Given the description of an element on the screen output the (x, y) to click on. 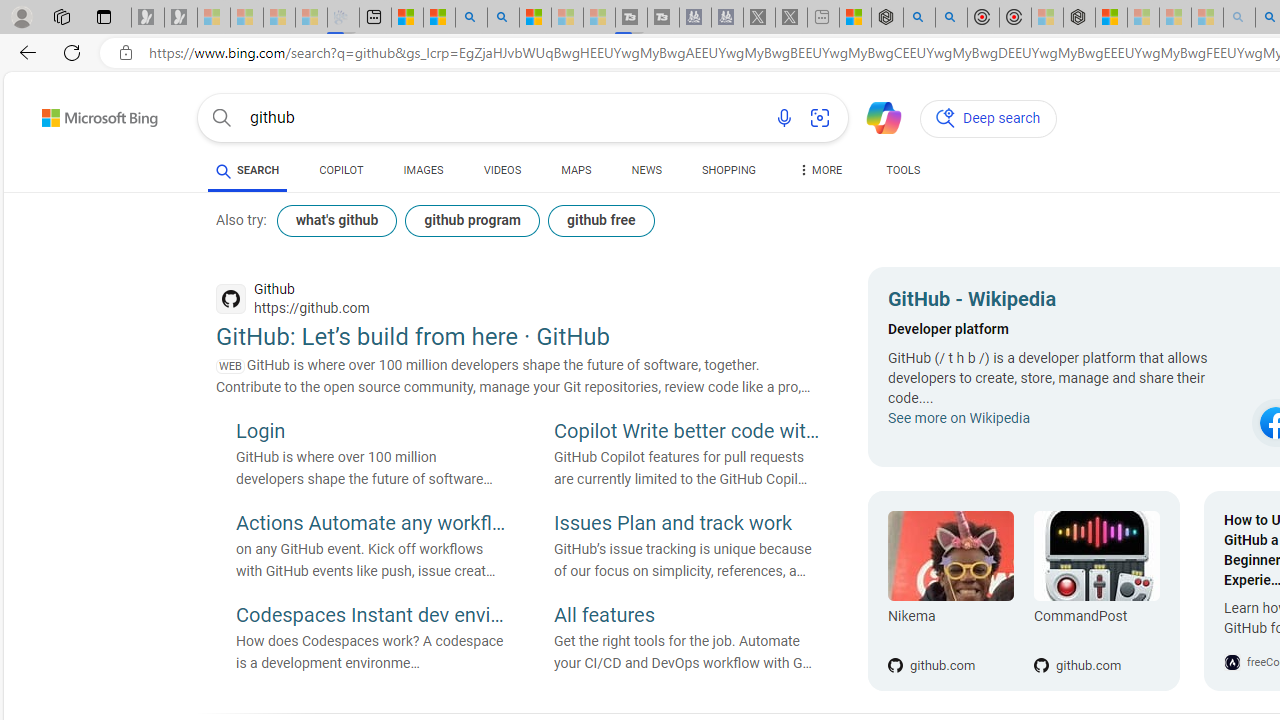
github.com (1096, 632)
Actions Automate any workflow (370, 525)
what's github (337, 220)
Back to Bing search (87, 113)
VIDEOS (501, 170)
poe - Search (919, 17)
github free (600, 220)
github program (471, 220)
